Given the description of an element on the screen output the (x, y) to click on. 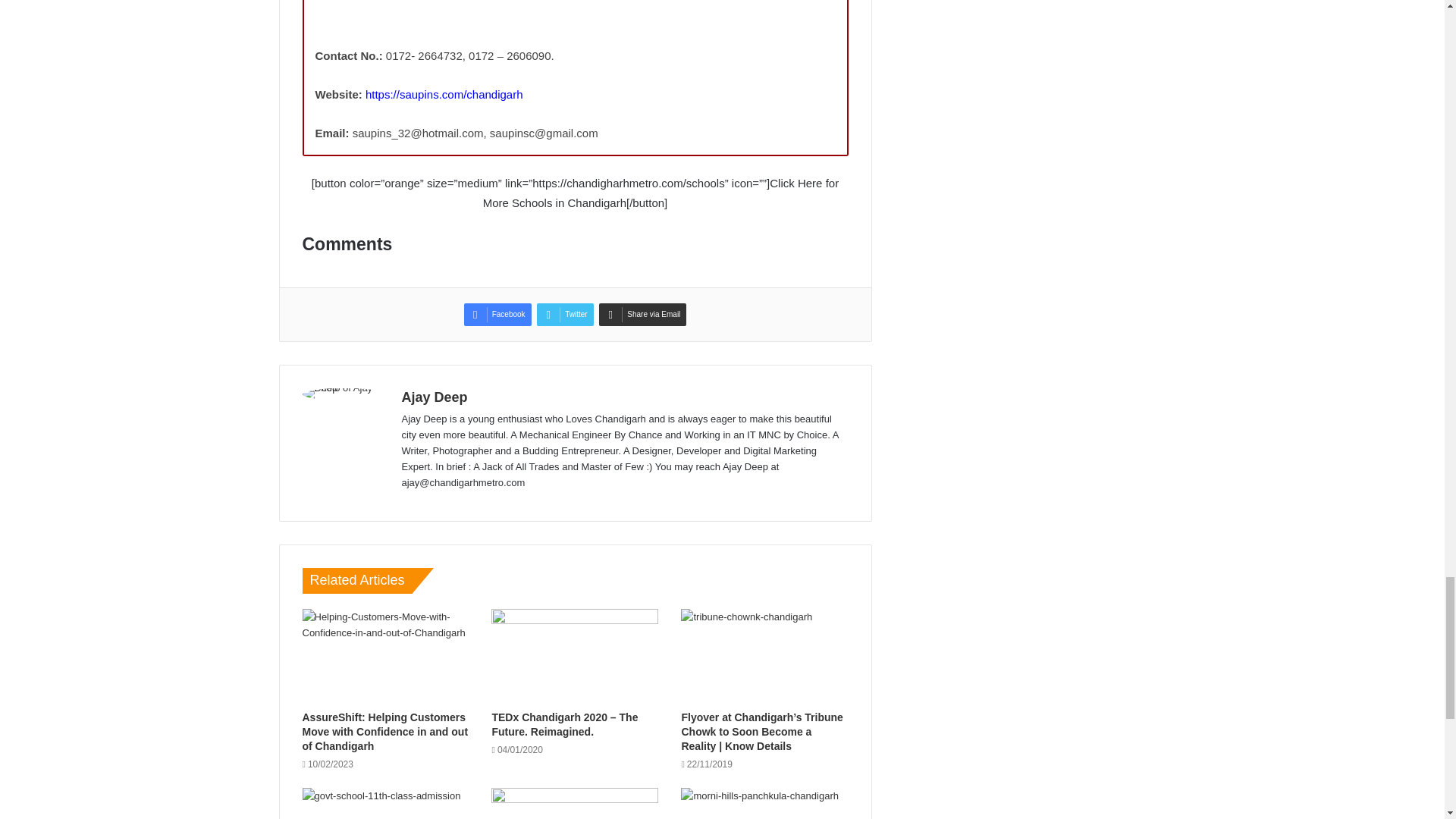
Advertisement (575, 20)
Twitter (564, 314)
Twitter (564, 314)
Share via Email (641, 314)
Facebook (497, 314)
Facebook (497, 314)
Share via Email (641, 314)
